Given the description of an element on the screen output the (x, y) to click on. 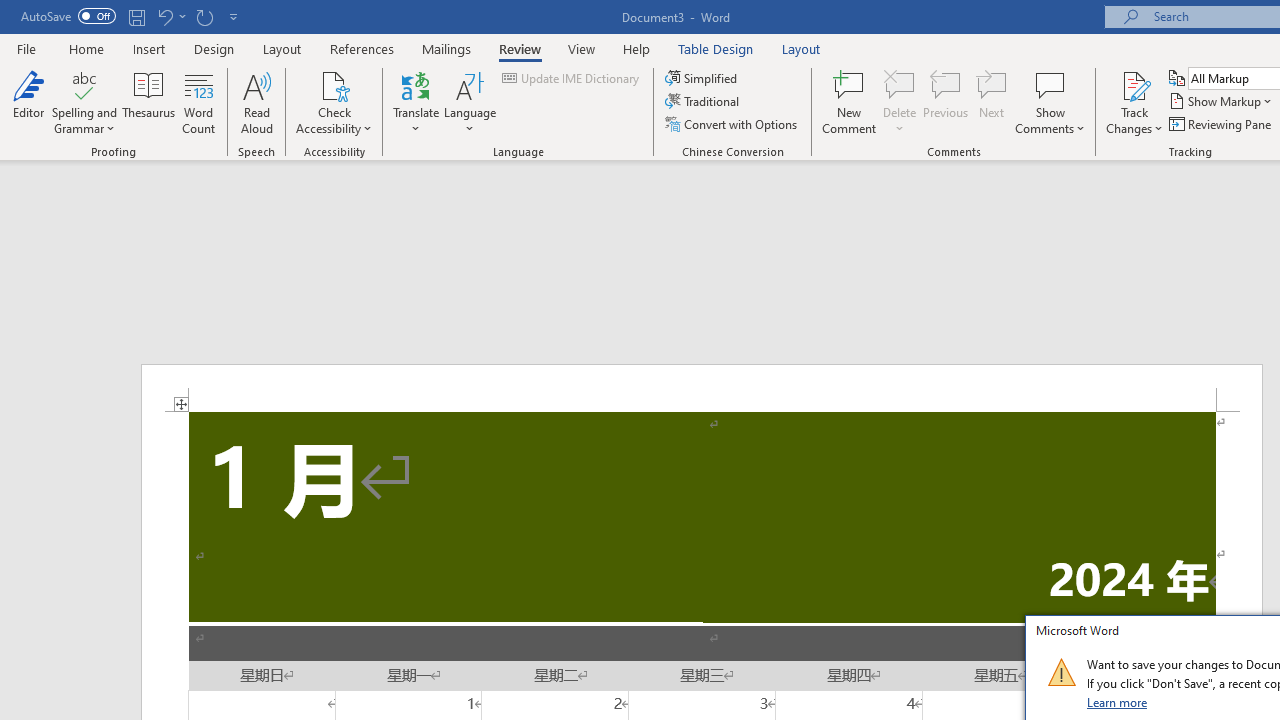
Update IME Dictionary... (572, 78)
Track Changes (1134, 102)
New Comment (849, 102)
Translate (415, 102)
Learn more (1118, 702)
Thesaurus... (148, 102)
Undo Apply Quick Style (170, 15)
Delete (900, 102)
Spelling and Grammar (84, 102)
Language (470, 102)
Undo Apply Quick Style (164, 15)
